Given the description of an element on the screen output the (x, y) to click on. 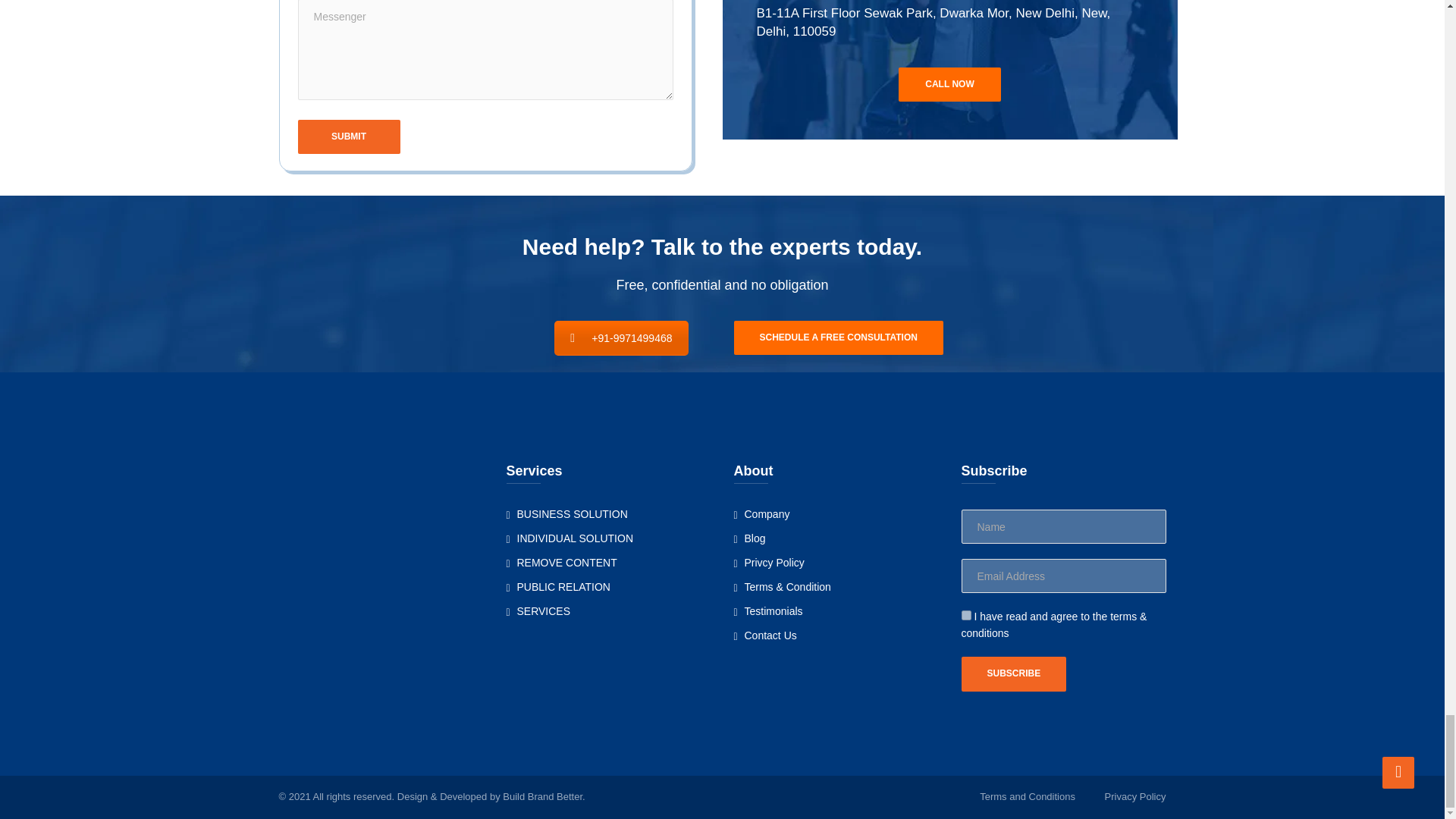
Subscribe (1013, 673)
Submit (347, 136)
1 (965, 614)
